Given the description of an element on the screen output the (x, y) to click on. 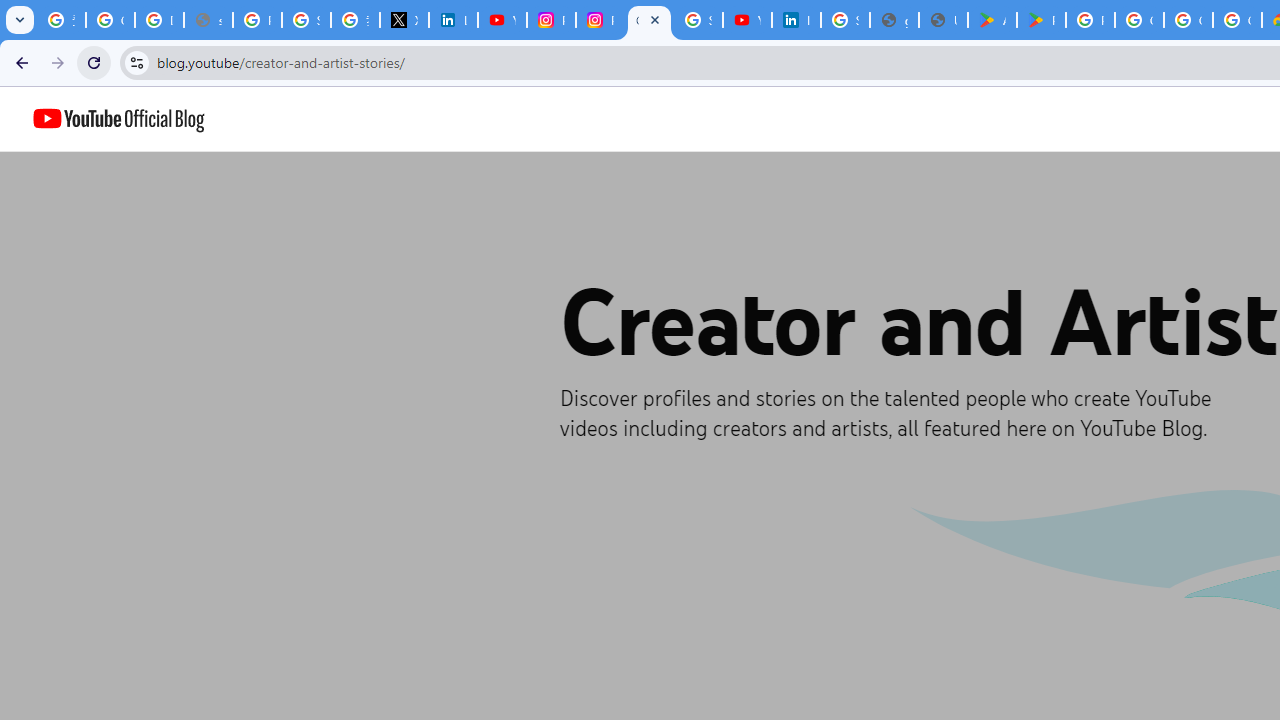
LinkedIn Privacy Policy (452, 20)
Sign in - Google Accounts (698, 20)
Privacy Help Center - Policies Help (257, 20)
YouTube Content Monetization Policies - How YouTube Works (502, 20)
Google Workspace - Specific Terms (1237, 20)
Google Workspace - Specific Terms (1188, 20)
Android Apps on Google Play (992, 20)
PAW Patrol Rescue World - Apps on Google Play (1041, 20)
